Given the description of an element on the screen output the (x, y) to click on. 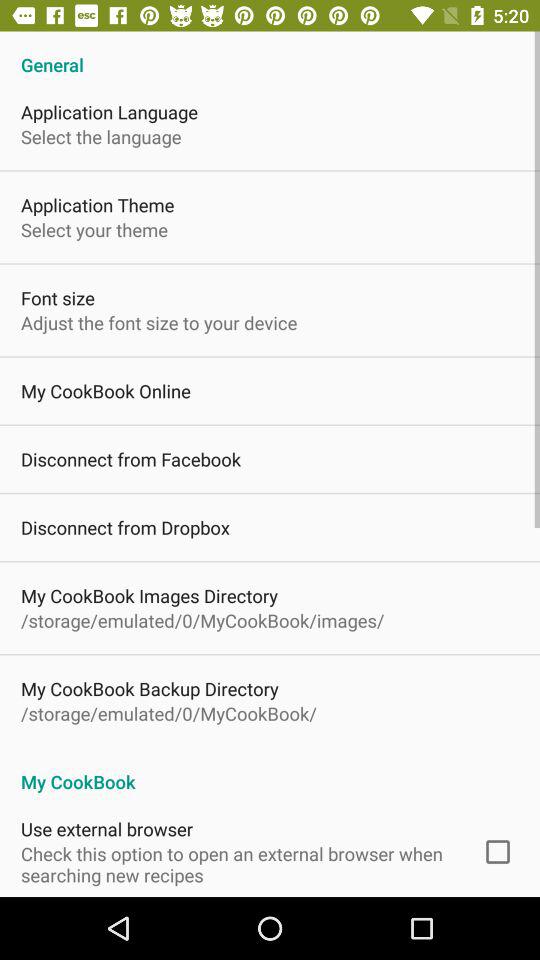
tap item to the right of check this option icon (497, 852)
